Given the description of an element on the screen output the (x, y) to click on. 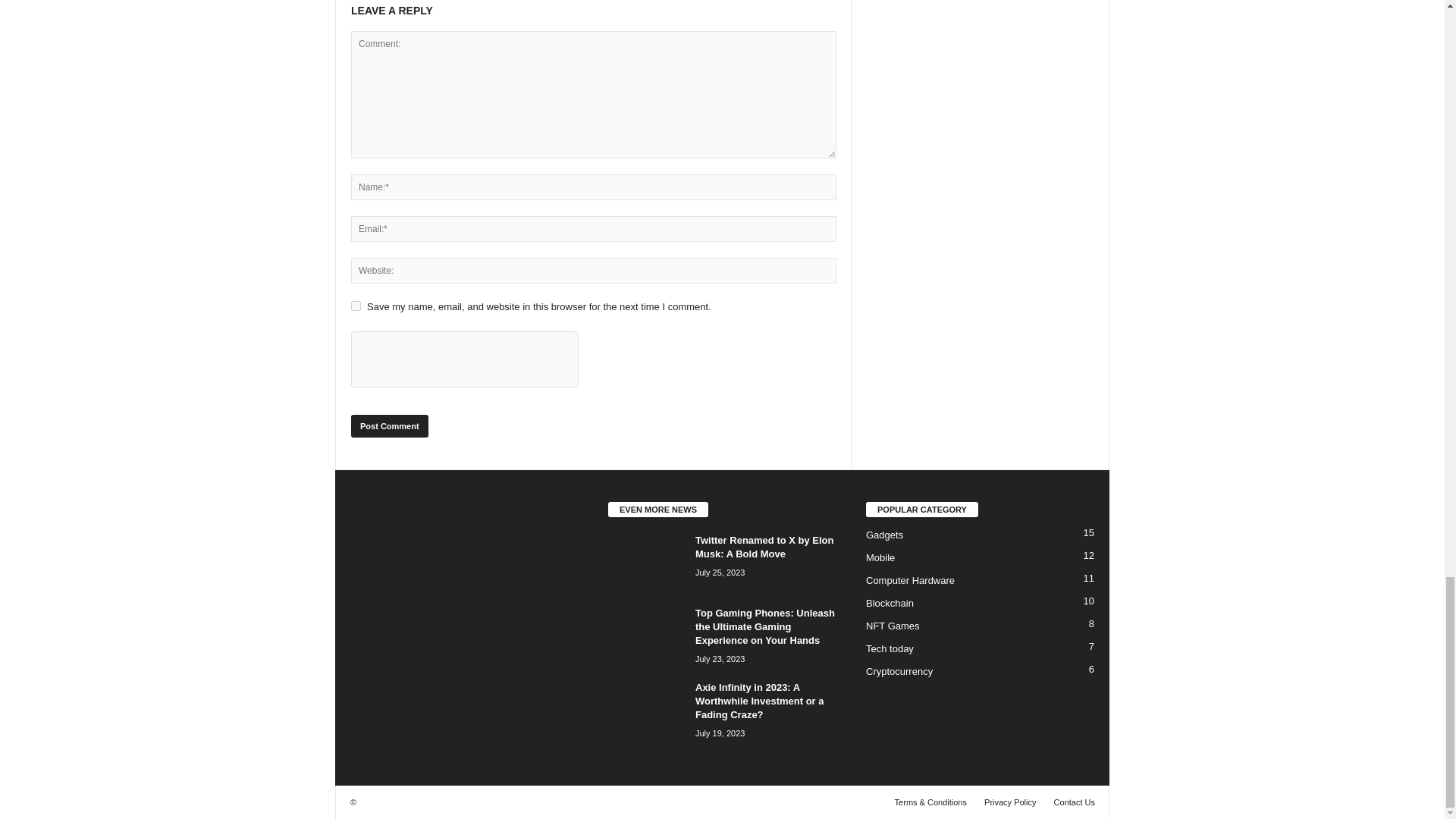
yes (355, 306)
Post Comment (389, 425)
